Given the description of an element on the screen output the (x, y) to click on. 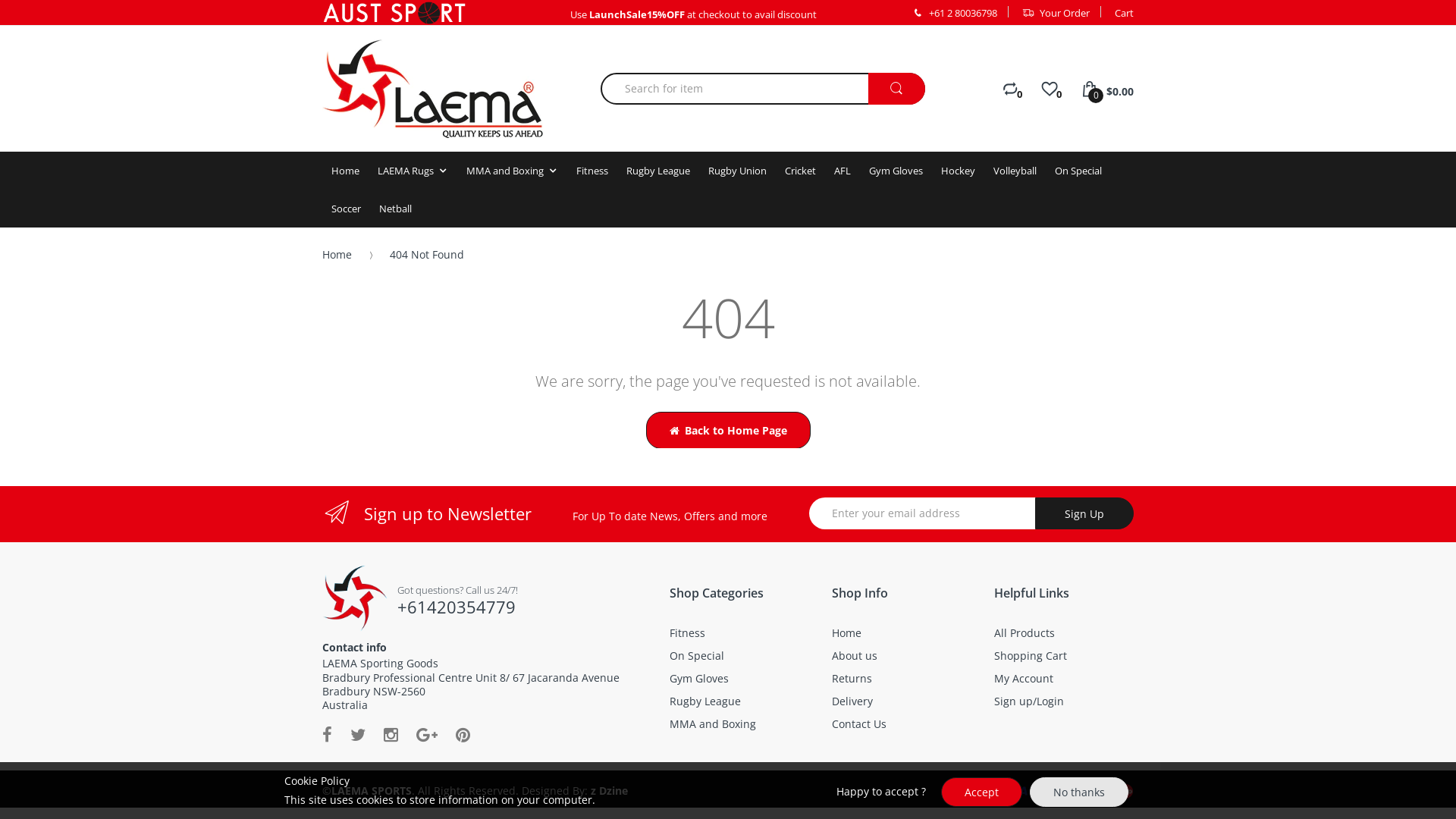
My Account Element type: text (1023, 678)
Cricket Element type: text (799, 174)
Rugby League Element type: text (704, 700)
z Dzine Element type: text (608, 790)
About us Element type: text (854, 655)
On Special Element type: text (696, 655)
On Special Element type: text (1077, 174)
Netball Element type: text (395, 212)
Delivery Element type: text (851, 700)
0 Element type: text (1010, 92)
AFL Element type: text (842, 174)
Soccer Element type: text (345, 212)
Rugby League Element type: text (658, 174)
Instagram Element type: hover (390, 733)
Twitter Element type: hover (357, 733)
MMA and Boxing Element type: text (712, 723)
0
$0.00 Element type: text (1106, 94)
Gym Gloves Element type: text (895, 174)
Pinterest Element type: hover (462, 733)
LAEMA SPORTS Element type: hover (432, 88)
LAEMA SPORTS Element type: text (371, 790)
Contact Us Element type: text (858, 723)
Google Element type: hover (426, 733)
Cart Element type: text (1123, 12)
Rugby Union Element type: text (737, 174)
Back to Home Page Element type: text (728, 433)
0 Element type: text (1049, 92)
LAEMA SPORTS Element type: hover (355, 592)
Shopping Cart Element type: text (1030, 655)
Fitness Element type: text (687, 632)
Hockey Element type: text (958, 174)
LAEMA Rugs Element type: text (405, 174)
Volleyball Element type: text (1014, 174)
MMA and Boxing Element type: text (504, 174)
Home Element type: text (846, 632)
Home Element type: text (345, 174)
Gym Gloves Element type: text (698, 678)
Sign up/Login Element type: text (1028, 700)
Your Order Element type: text (1055, 11)
Fitness Element type: text (592, 174)
Home Element type: text (343, 257)
Returns Element type: text (851, 678)
Facebook Element type: hover (327, 733)
All Products Element type: text (1024, 632)
Sign Up Element type: text (1084, 513)
